Given the description of an element on the screen output the (x, y) to click on. 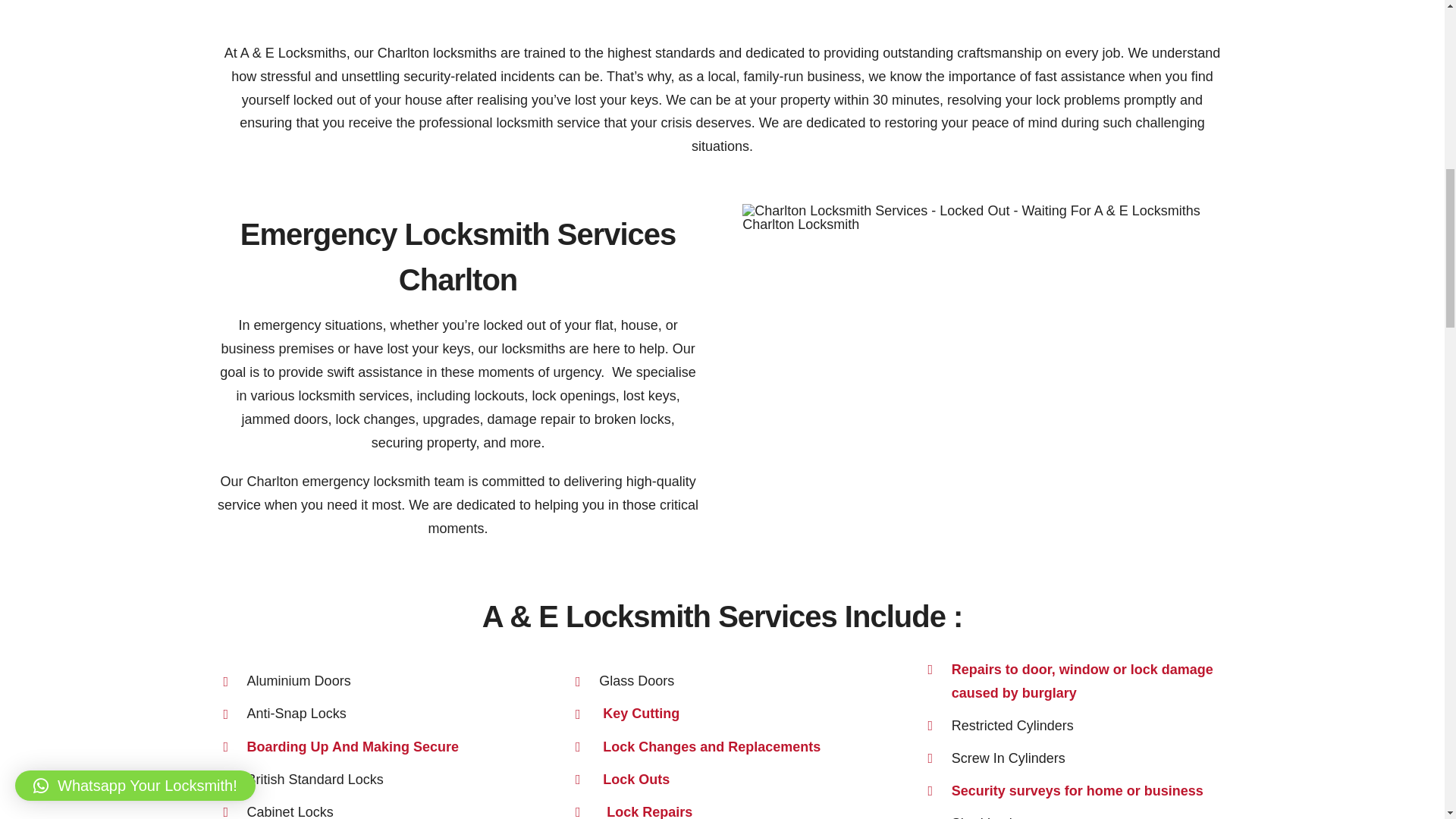
 Lock Changes and Replacements   (713, 746)
 Key Cutting   (642, 713)
Boarding Up And Making Secure (352, 746)
